Given the description of an element on the screen output the (x, y) to click on. 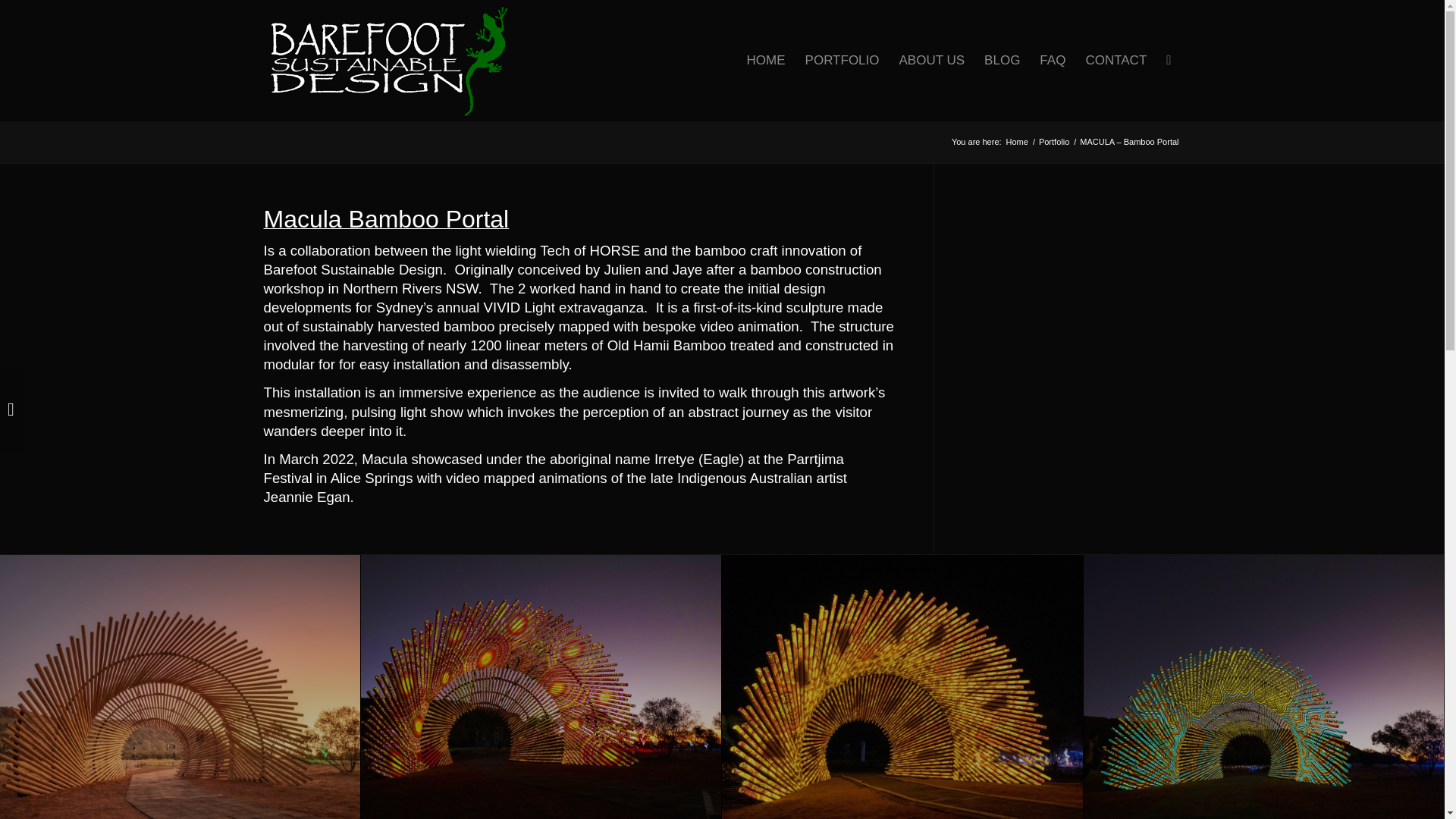
DSCF1648 (541, 687)
Portfolio (1053, 142)
Home (1017, 142)
Portfolio (1053, 142)
DSCF1648 (540, 687)
Barefoot Sustainable Design (1017, 142)
